Given the description of an element on the screen output the (x, y) to click on. 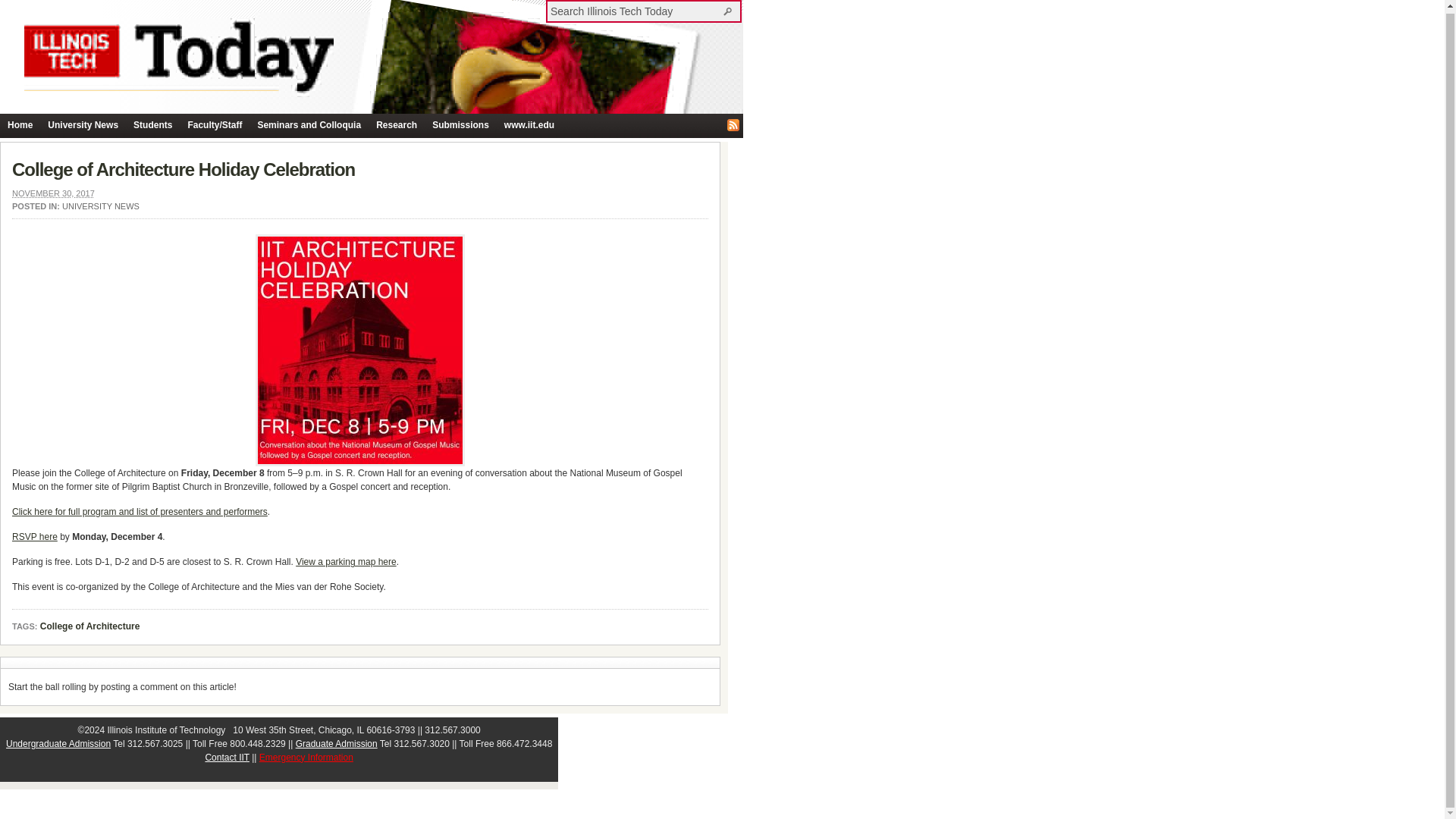
University News (82, 125)
Seminars and Colloquia (308, 125)
Undergraduate Admission (57, 743)
Submissions (460, 125)
View a parking map here (345, 561)
Emergency Information (306, 757)
Search (729, 10)
Illinois Tech Today RSS Feed (732, 124)
Home (20, 125)
Research (396, 125)
